Given the description of an element on the screen output the (x, y) to click on. 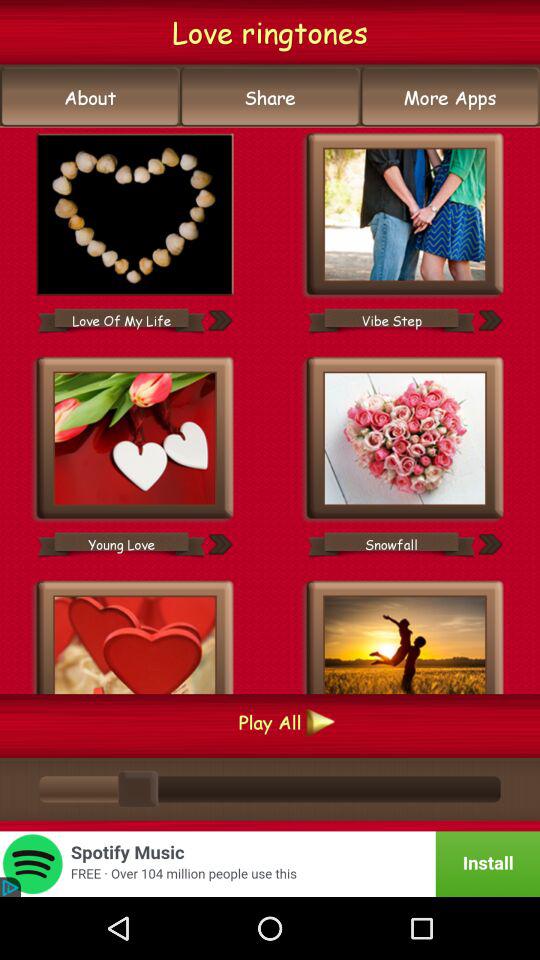
open the button next to the share item (450, 97)
